Given the description of an element on the screen output the (x, y) to click on. 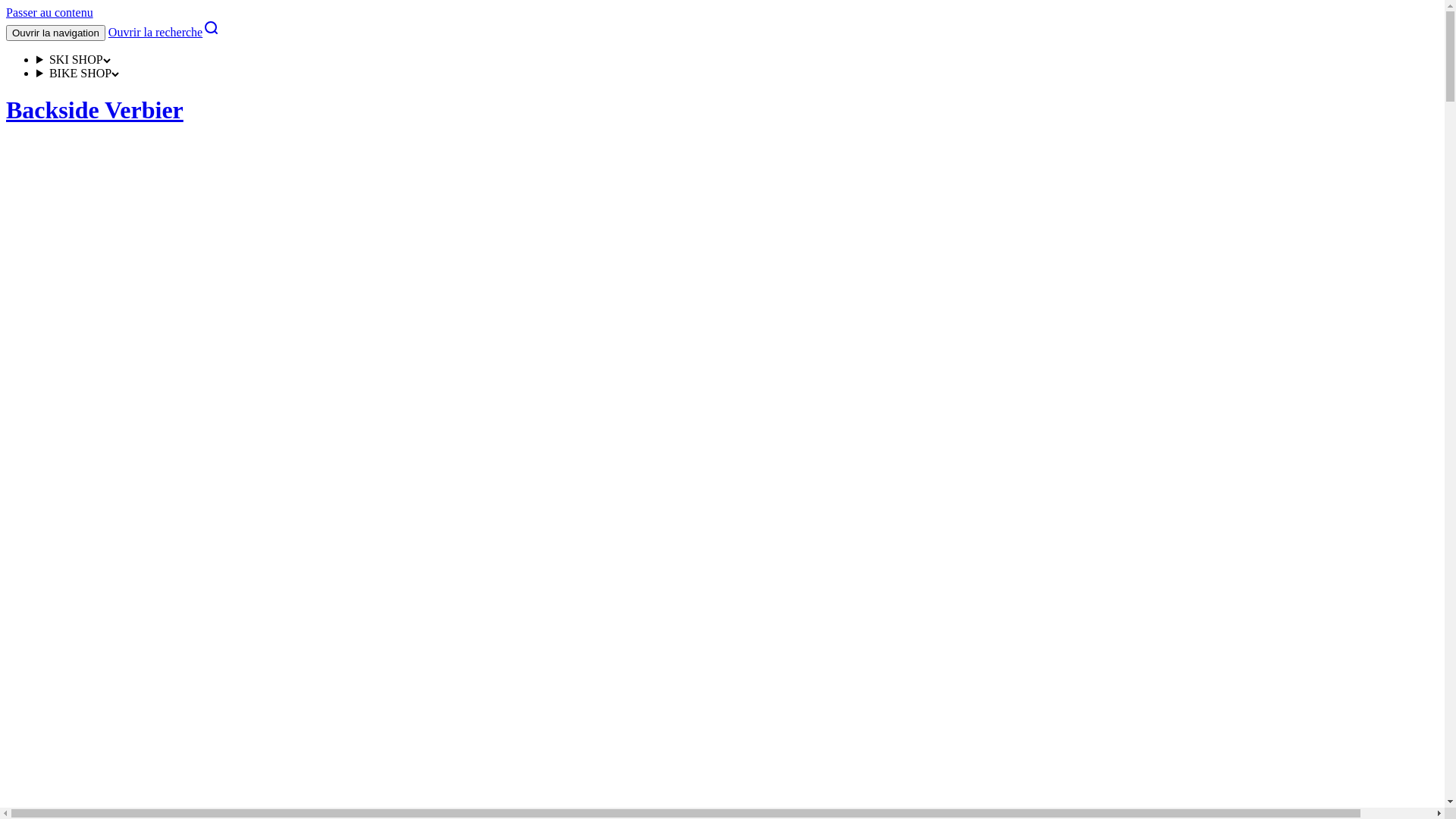
Passer au contenu Element type: text (49, 12)
Ouvrir la recherche Element type: text (163, 31)
Ouvrir la navigation Element type: text (55, 32)
